Given the description of an element on the screen output the (x, y) to click on. 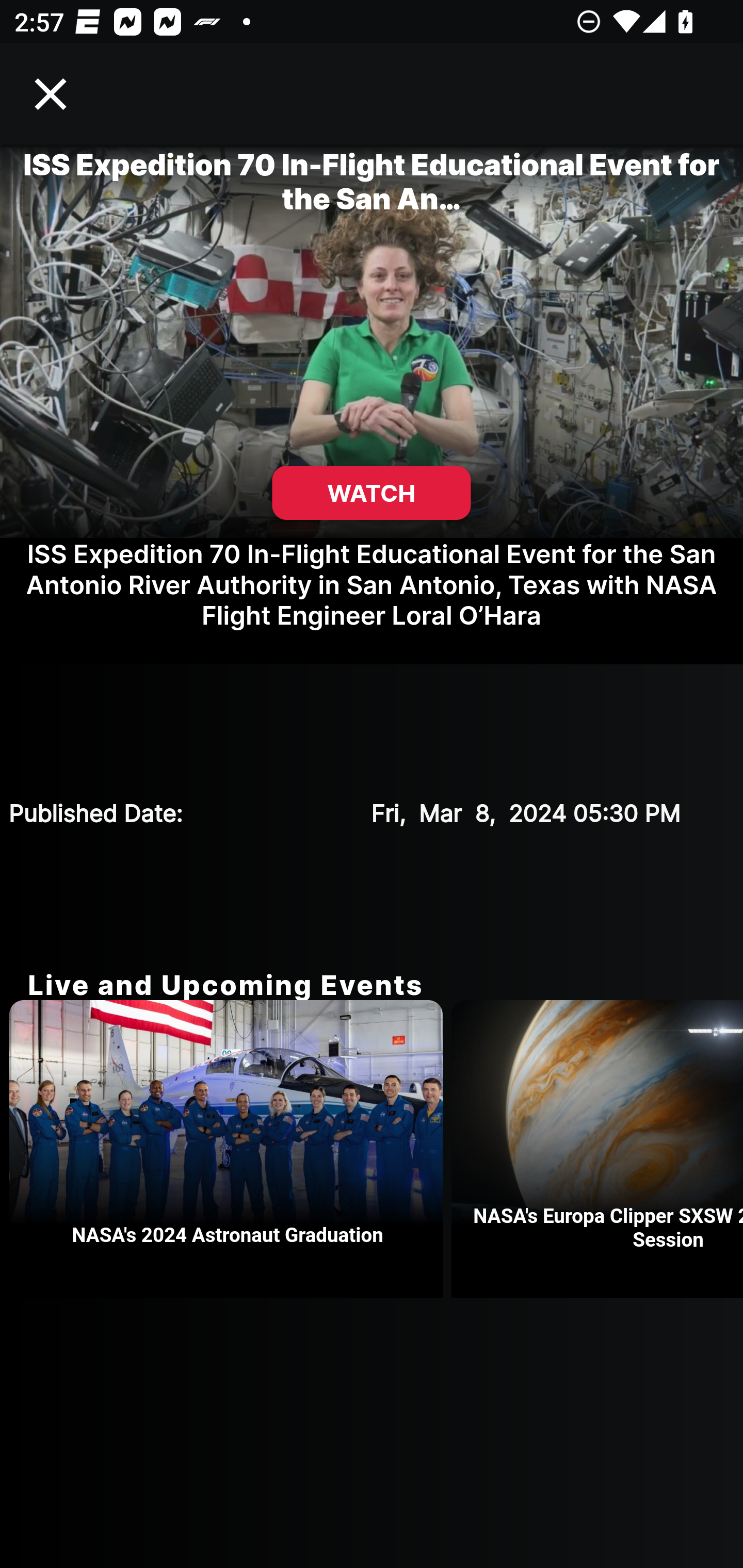
WATCH (371, 492)
NASA's 2024 Astronaut Graduation (229, 1149)
NASA's Europa Clipper SXSW 2024 Opening Session (597, 1149)
